Given the description of an element on the screen output the (x, y) to click on. 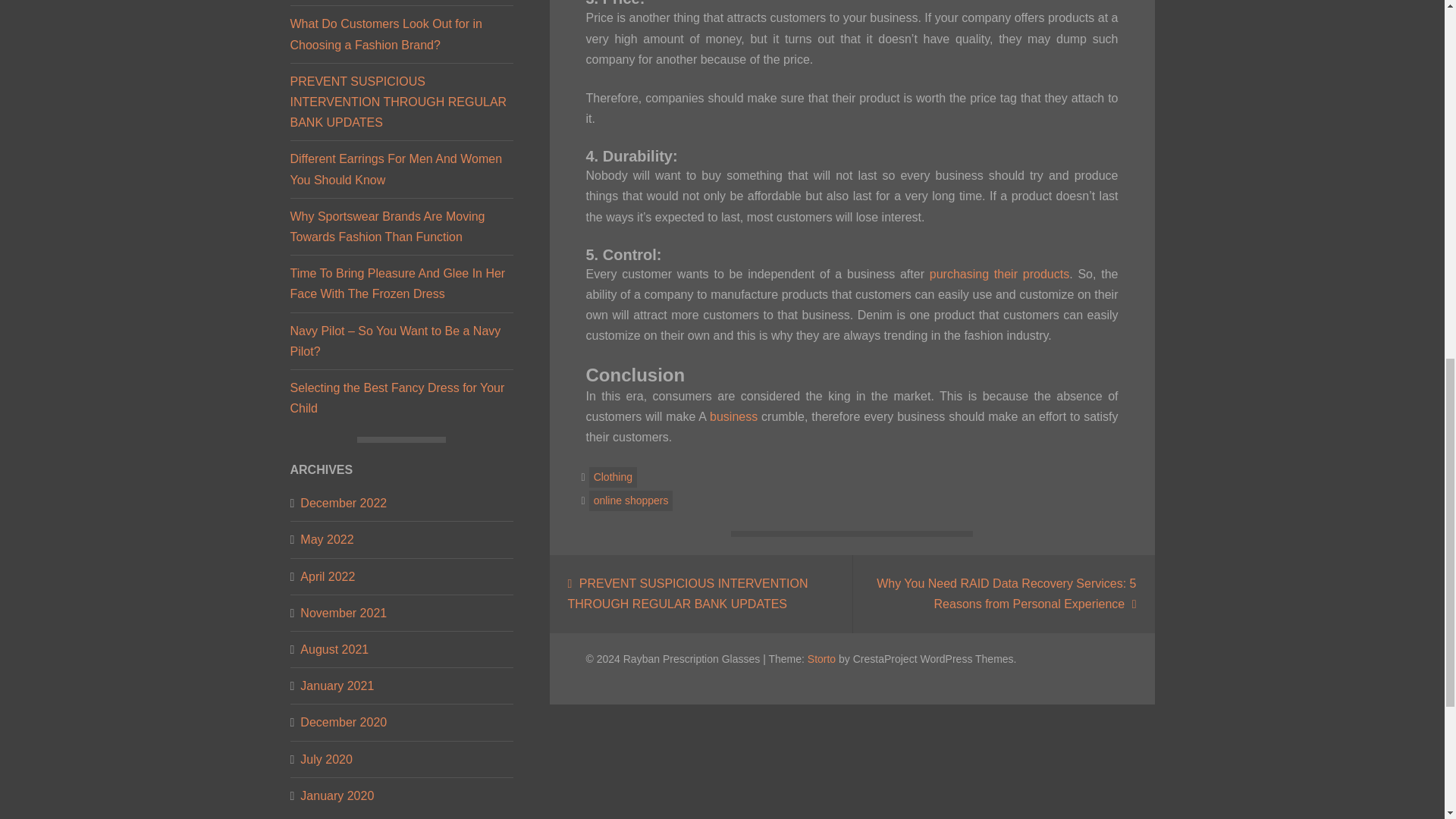
May 2022 (326, 539)
January 2020 (336, 795)
July 2020 (325, 759)
Selecting the Best Fancy Dress for Your Child (396, 397)
Storto Theme (821, 657)
What Do Customers Look Out for in Choosing a Fashion Brand? (385, 33)
December 2020 (343, 721)
Different Earrings For Men And Women You Should Know (395, 168)
August 2021 (333, 649)
January 2021 (336, 685)
PREVENT SUSPICIOUS INTERVENTION THROUGH REGULAR BANK UPDATES (397, 101)
December 2022 (343, 503)
April 2022 (327, 576)
